Given the description of an element on the screen output the (x, y) to click on. 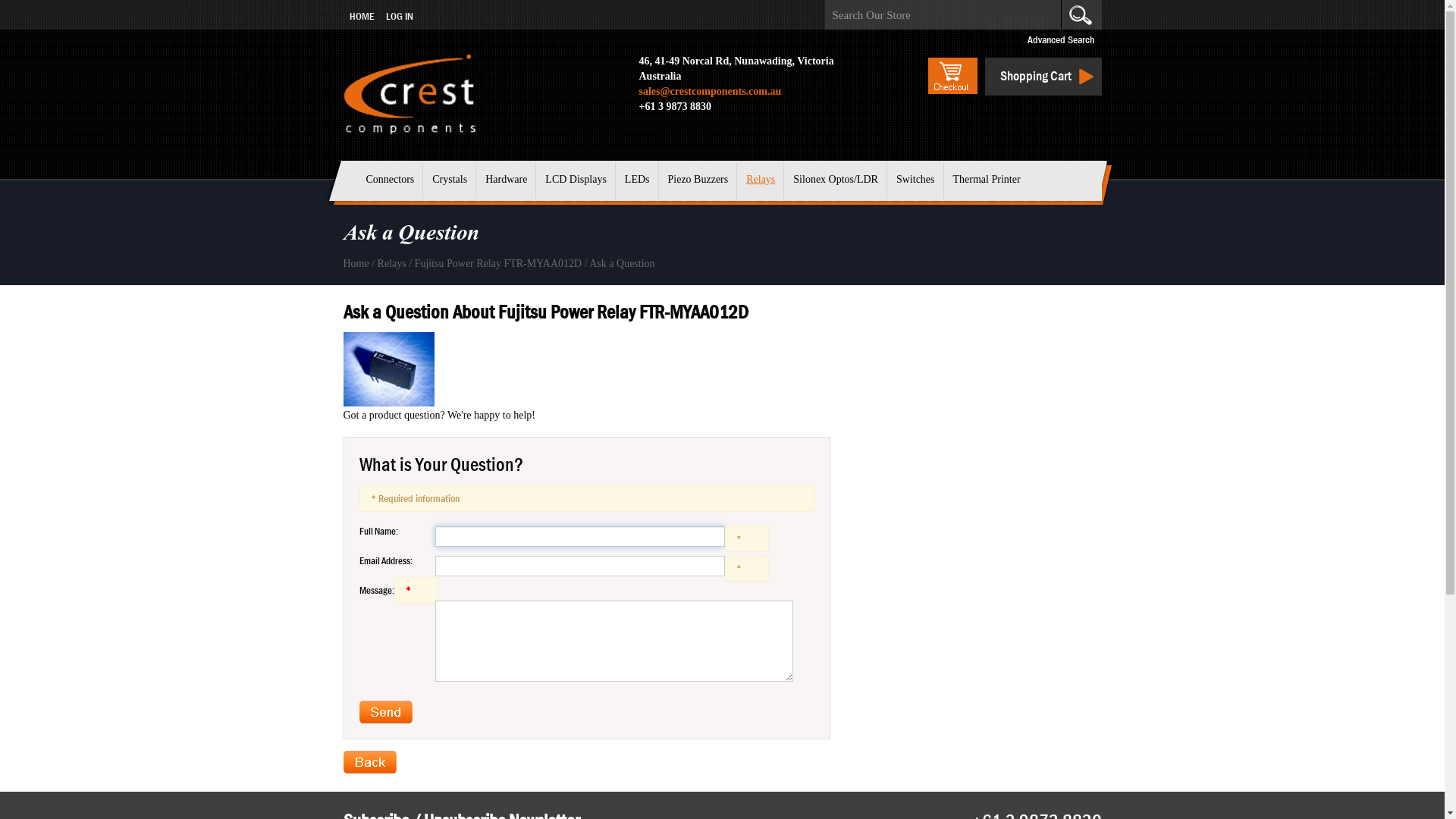
Silonex Optos/LDR Element type: text (835, 179)
Relays Element type: text (760, 179)
Hardware Element type: text (506, 179)
LEDs Element type: text (636, 179)
 Back  Element type: hover (368, 761)
HOME Element type: text (360, 15)
Advanced Search Element type: text (1059, 39)
Crystals Element type: text (449, 179)
Shopping Cart Element type: text (1035, 75)
Fujitsu Power Relay FTR-MYAA012D Element type: text (498, 263)
LOG IN Element type: text (398, 15)
Switches Element type: text (915, 179)
Thermal Printer Element type: text (986, 179)
Home Element type: text (355, 263)
Relays Element type: text (391, 263)
 Crest Components  Element type: hover (408, 93)
Connectors Element type: text (389, 179)
Piezo Buzzers Element type: text (697, 179)
sales@crestcomponents.com.au Element type: text (709, 91)
 Fujitsu Power Relay FTR-MYAA012D  Element type: hover (387, 369)
LCD Displays Element type: text (575, 179)
 Send Now  Element type: hover (385, 711)
